Given the description of an element on the screen output the (x, y) to click on. 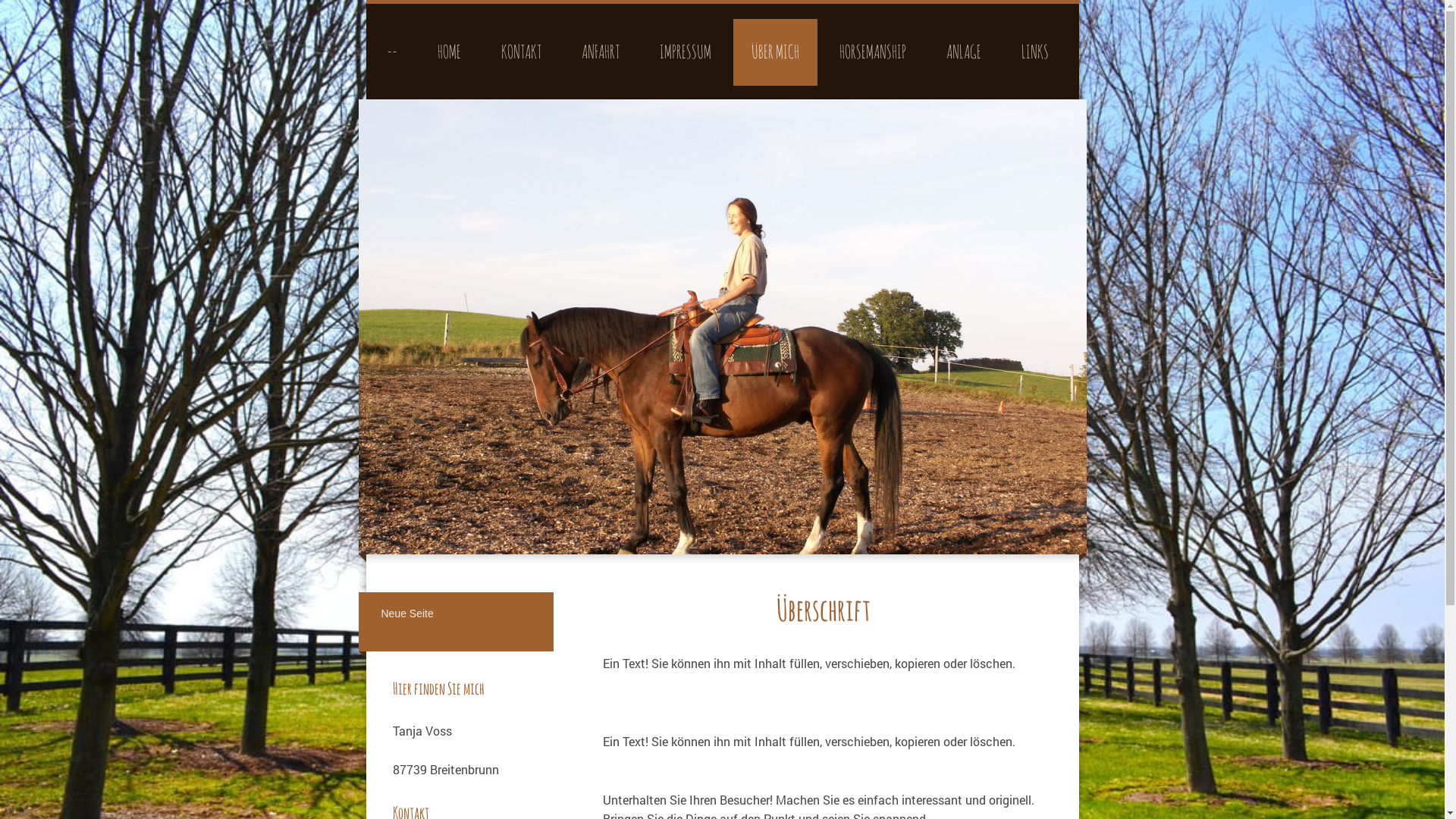
ANFAHRT Element type: text (599, 51)
KONTAKT Element type: text (520, 51)
LINKS Element type: text (1034, 51)
HOME Element type: text (448, 51)
ANLAGE Element type: text (963, 51)
HORSEMANSHIP Element type: text (871, 51)
Neue Seite Element type: text (455, 613)
IMPRESSUM Element type: text (685, 51)
-- Element type: text (391, 51)
